Given the description of an element on the screen output the (x, y) to click on. 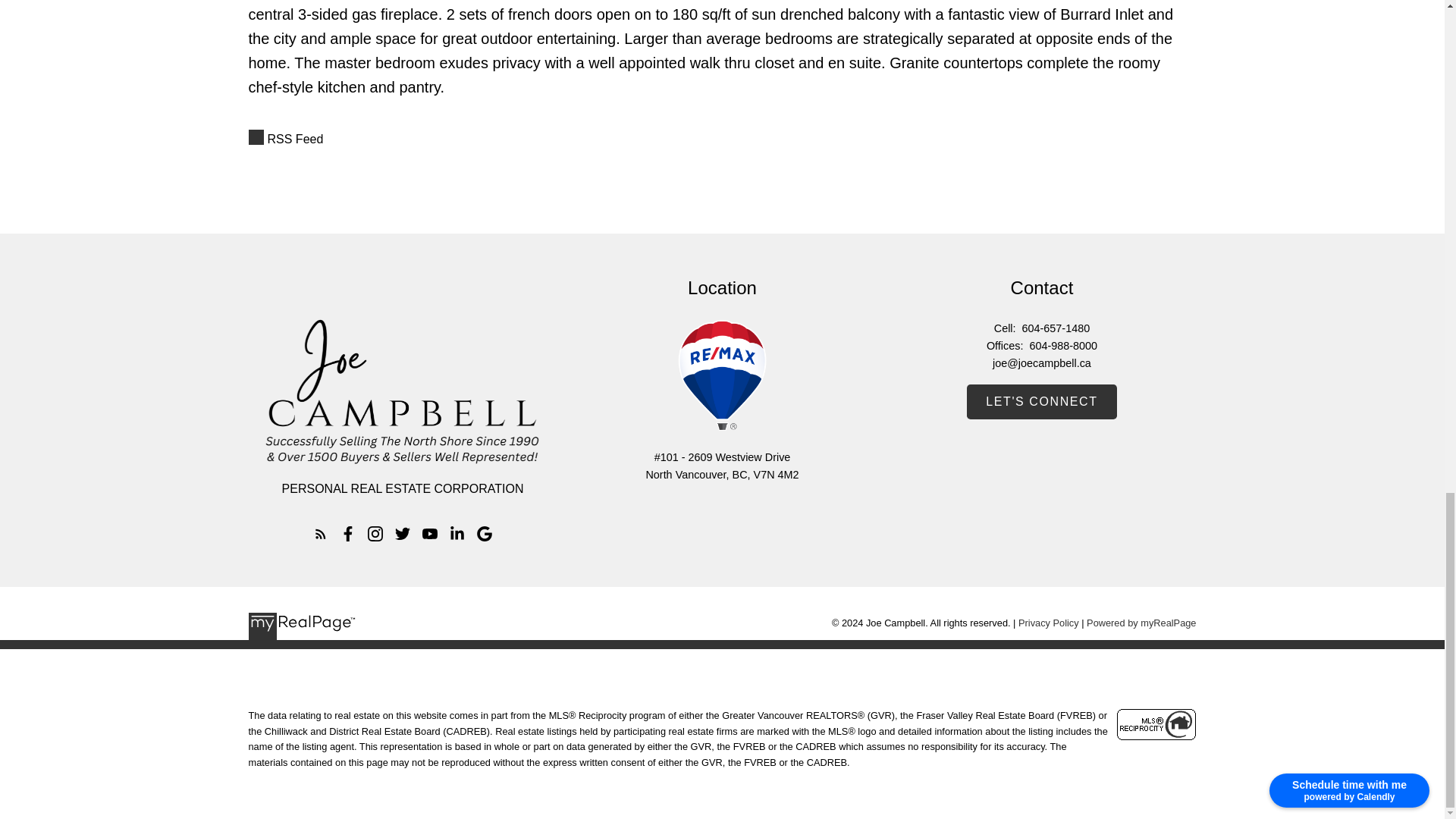
RSS (722, 139)
